Given the description of an element on the screen output the (x, y) to click on. 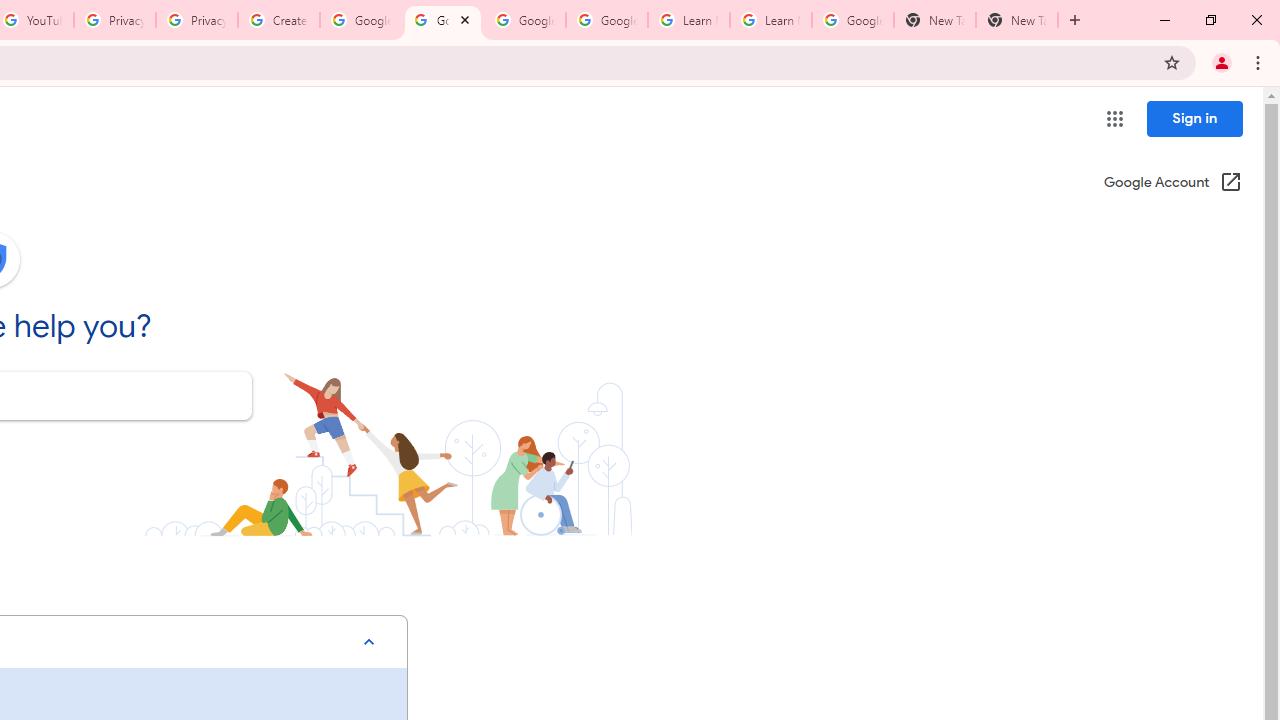
New Tab (934, 20)
Google Account (852, 20)
Google Account Help (524, 20)
New Tab (1016, 20)
Google Account (Open in a new window) (1172, 183)
Create your Google Account (278, 20)
Google Account Help (360, 20)
